Given the description of an element on the screen output the (x, y) to click on. 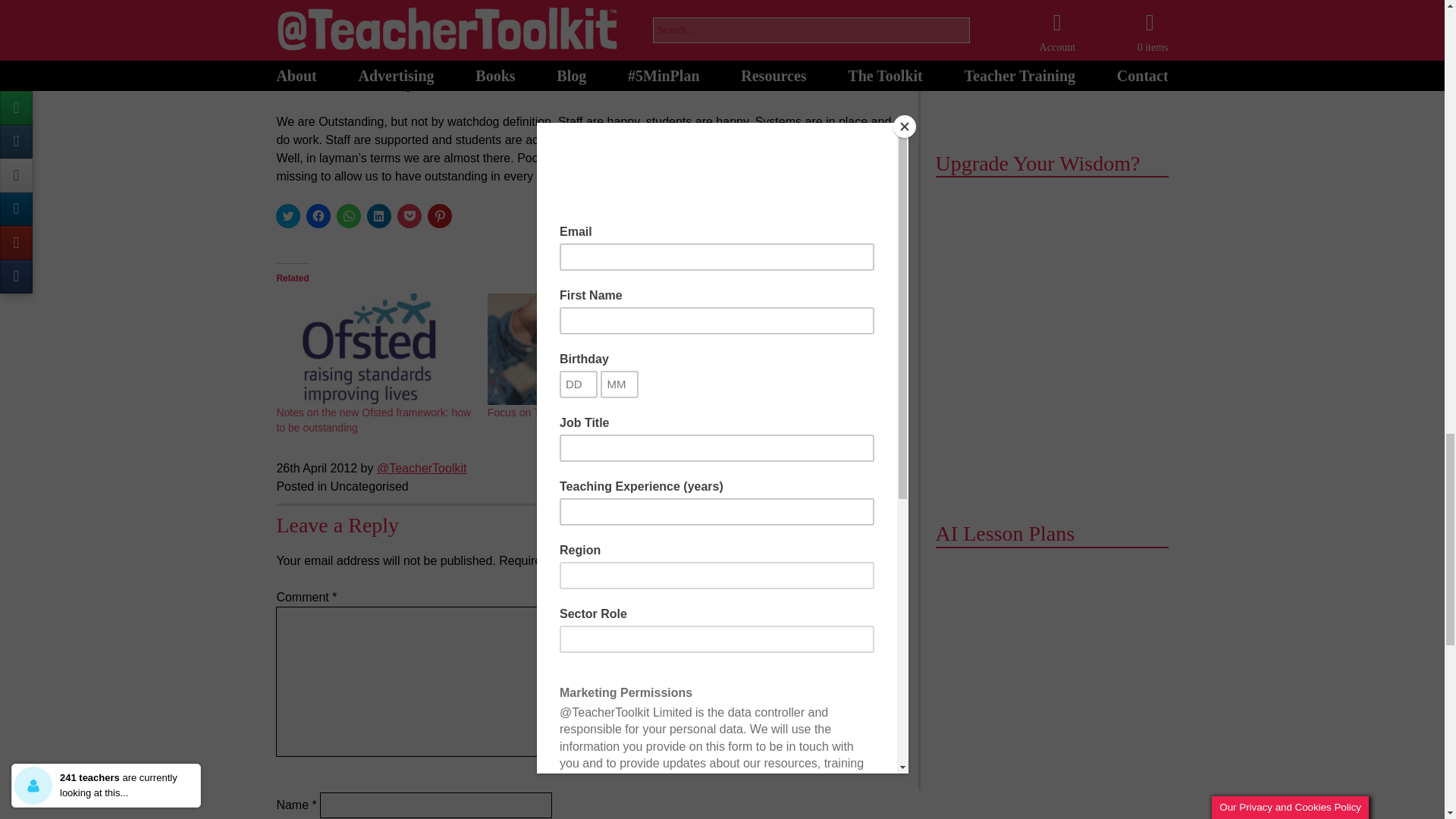
Notes on the new Ofsted framework: how to be outstanding (373, 420)
Focus on The Fluffy Stuff (546, 412)
